Given the description of an element on the screen output the (x, y) to click on. 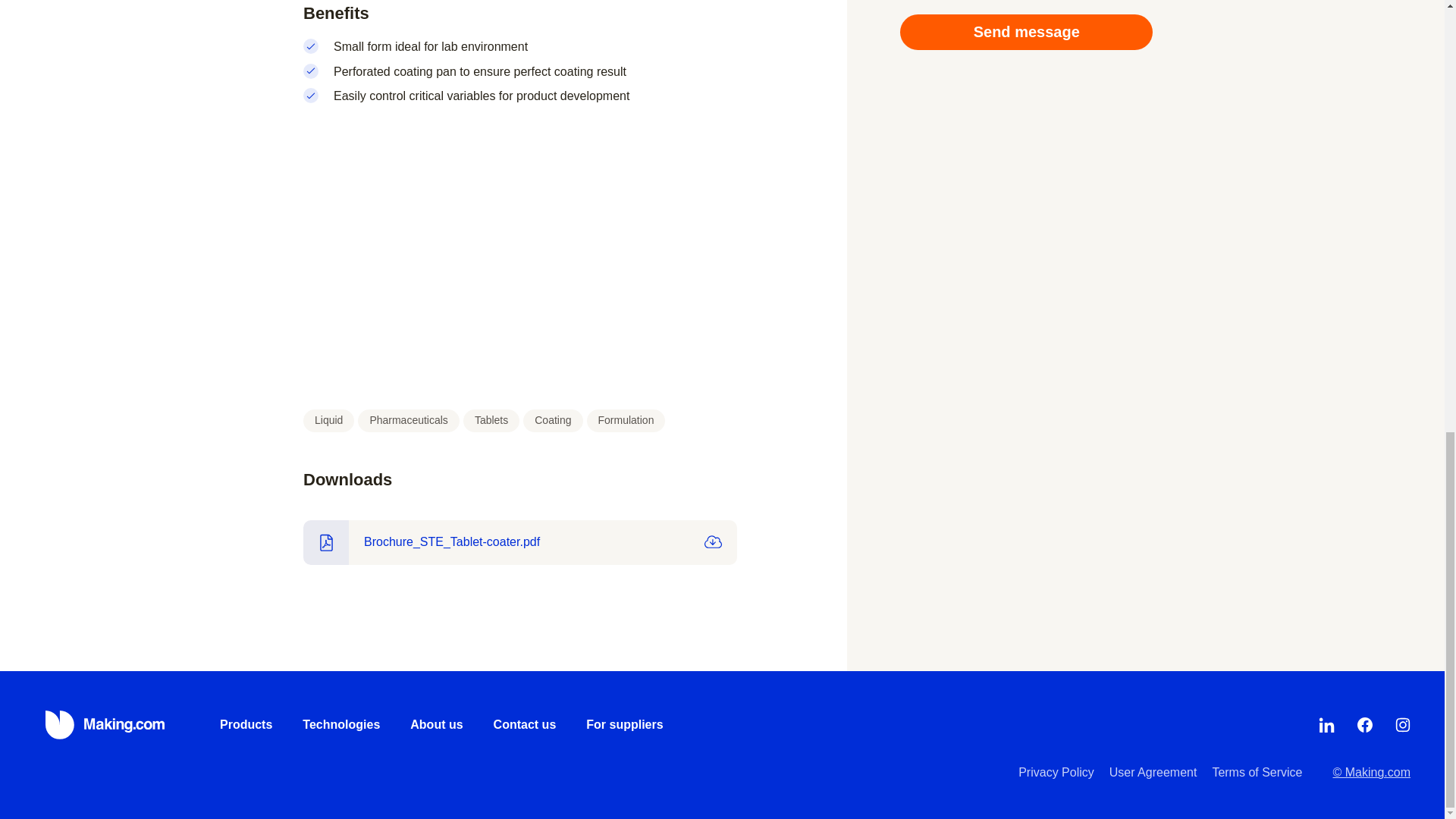
Tablets (491, 420)
Send message (1026, 31)
Privacy Policy (1056, 772)
User Agreement (1153, 772)
Coating (552, 420)
Home (106, 725)
Products (245, 725)
Technologies (341, 725)
Pharmaceuticals (409, 420)
Terms of Service (1256, 772)
For suppliers (624, 725)
Contact us (524, 725)
Formulation (625, 420)
About us (436, 725)
Liquid (327, 420)
